Given the description of an element on the screen output the (x, y) to click on. 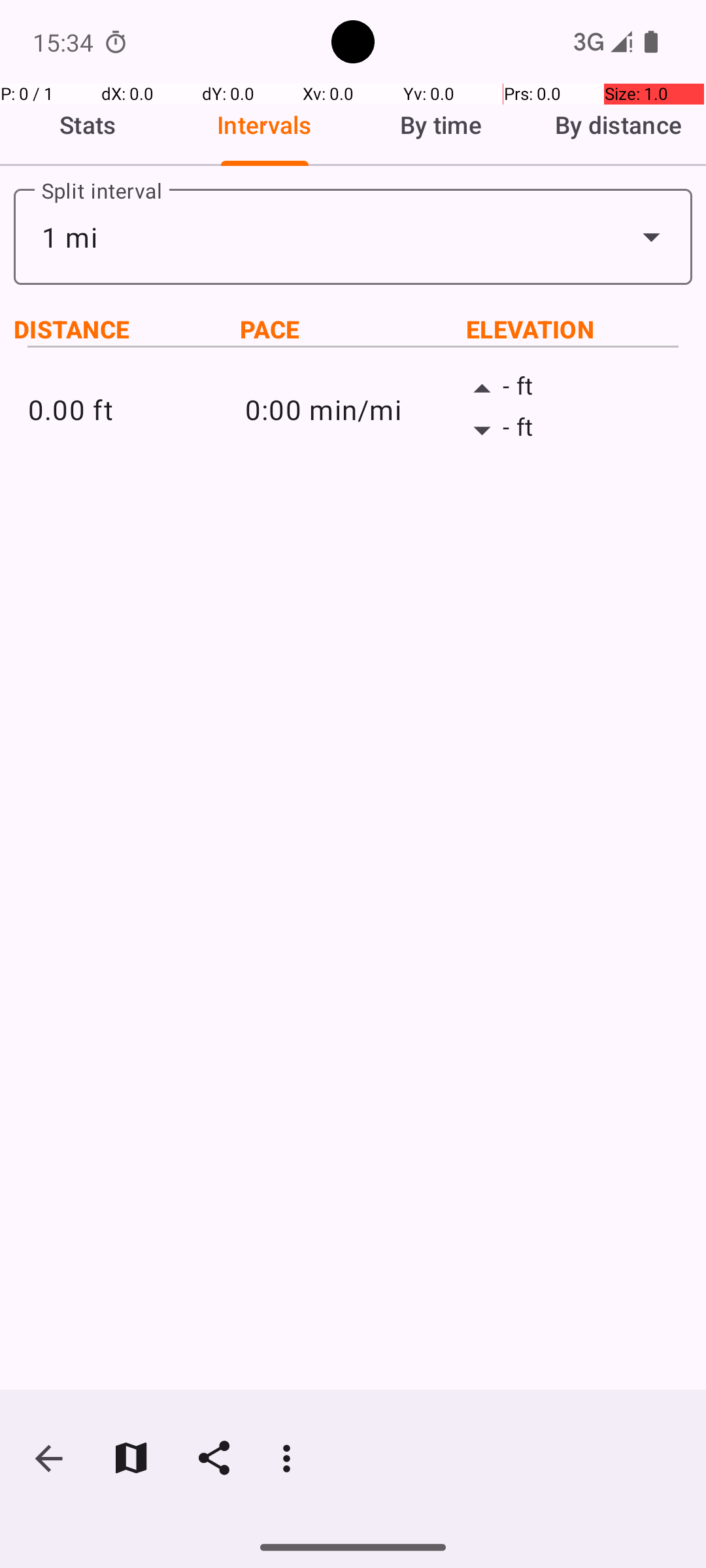
PACE Element type: android.widget.TextView (352, 328)
0:00 min/mi Element type: android.widget.TextView (352, 408)
